Given the description of an element on the screen output the (x, y) to click on. 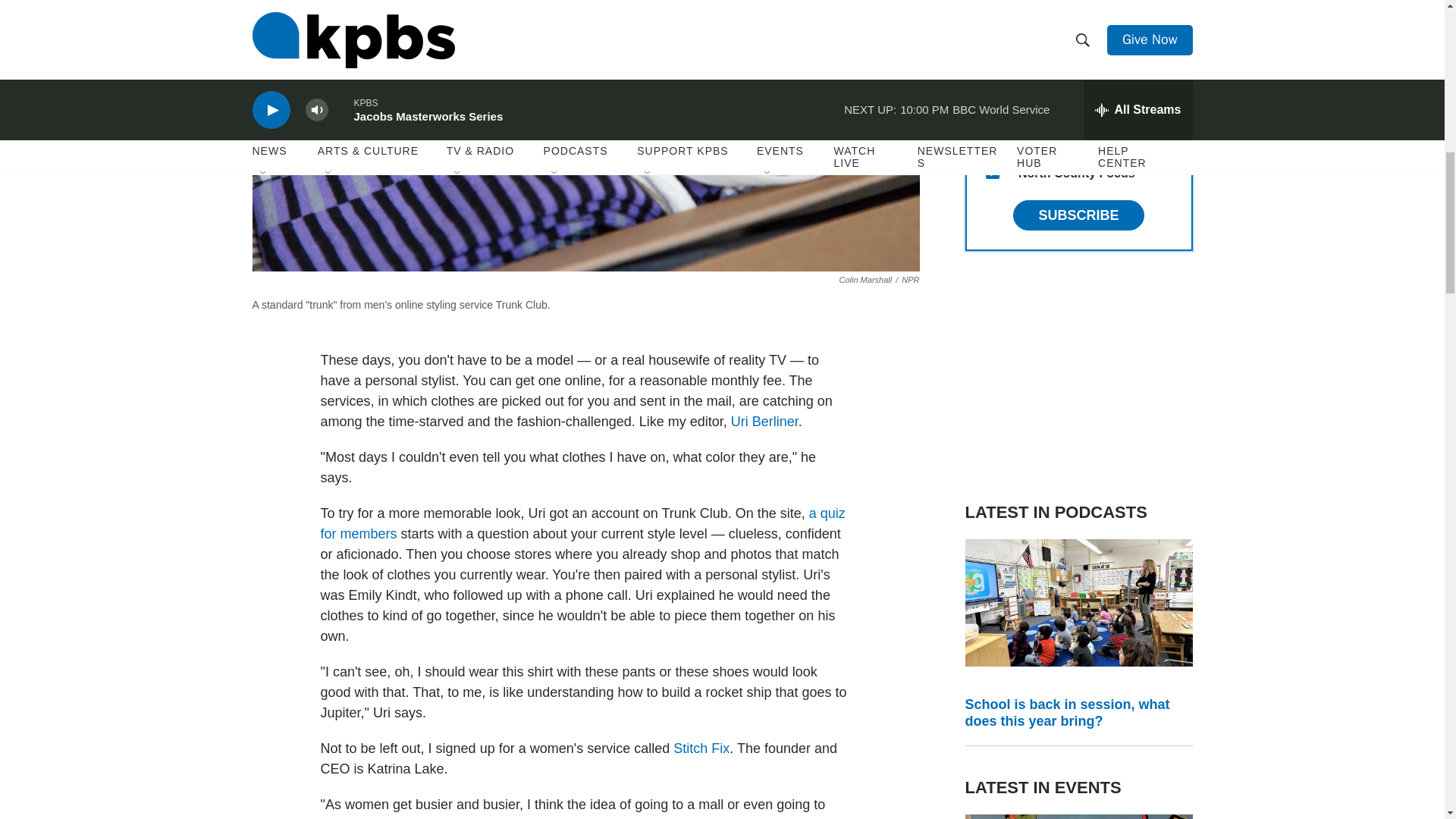
2 (991, 62)
6 (991, 26)
15 (991, 172)
1 (991, 99)
8 (991, 135)
